Given the description of an element on the screen output the (x, y) to click on. 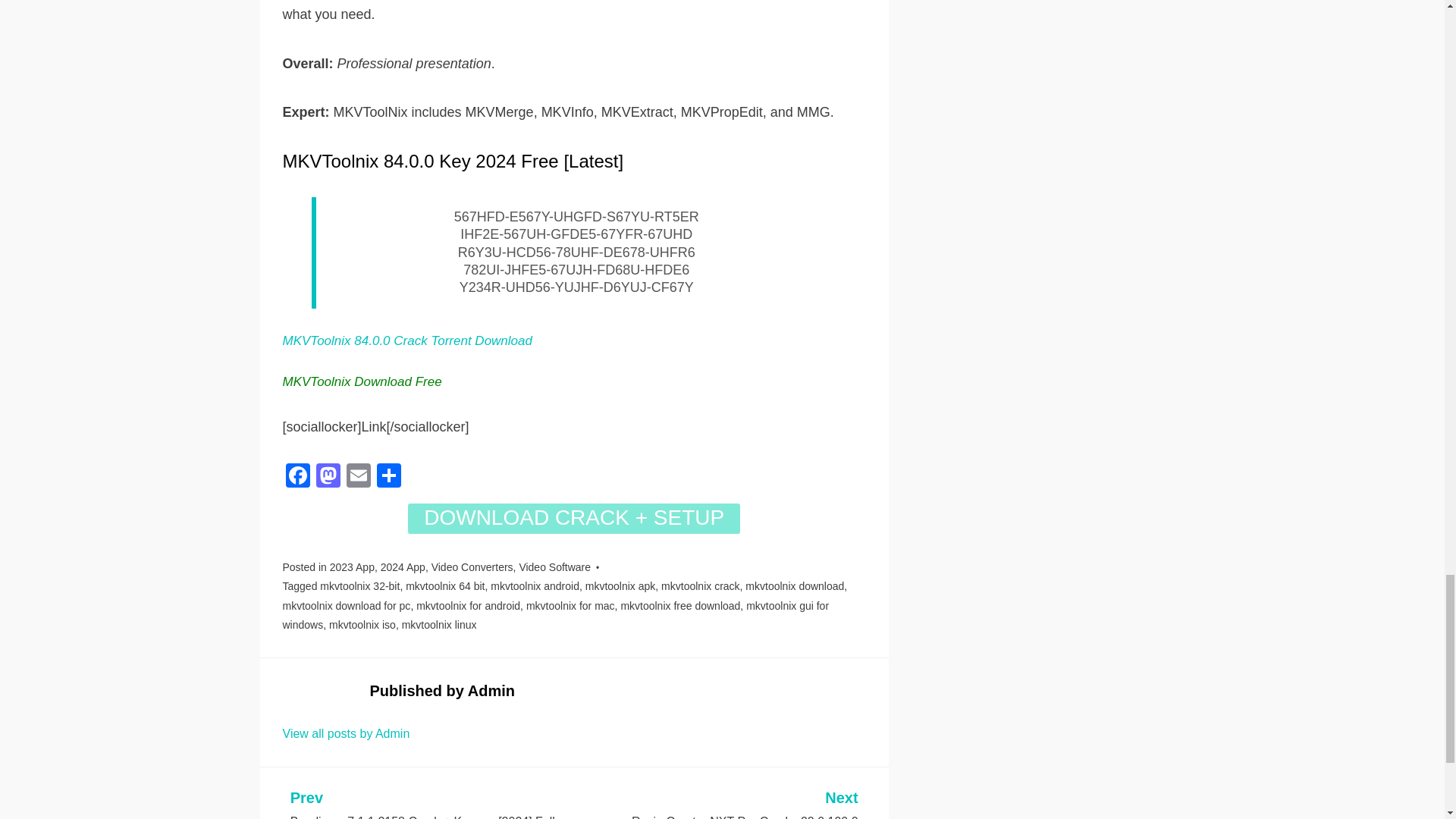
MKVToolnix Download Free (361, 381)
Mastodon (327, 477)
2024 App (402, 567)
Video Converters (471, 567)
mkvtoolnix download for pc (346, 605)
Email (357, 477)
mkvtoolnix android (534, 585)
Facebook (297, 477)
2023 App (352, 567)
mkvtoolnix for mac (569, 605)
mkvtoolnix 64 bit (445, 585)
mkvtoolnix apk (620, 585)
Mastodon (327, 477)
mkvtoolnix 32-bit (359, 585)
mkvtoolnix gui for windows (555, 614)
